Given the description of an element on the screen output the (x, y) to click on. 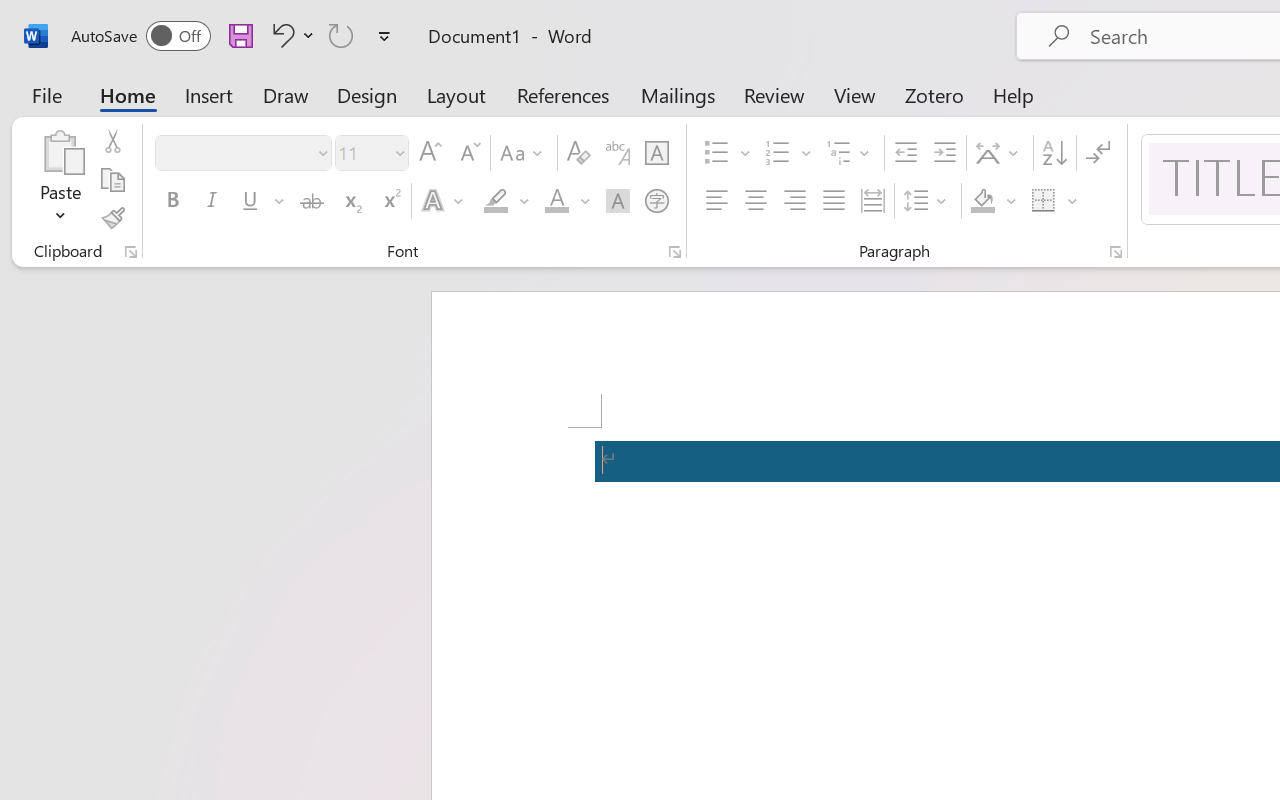
Font Color RGB(255, 0, 0) (556, 201)
